Given the description of an element on the screen output the (x, y) to click on. 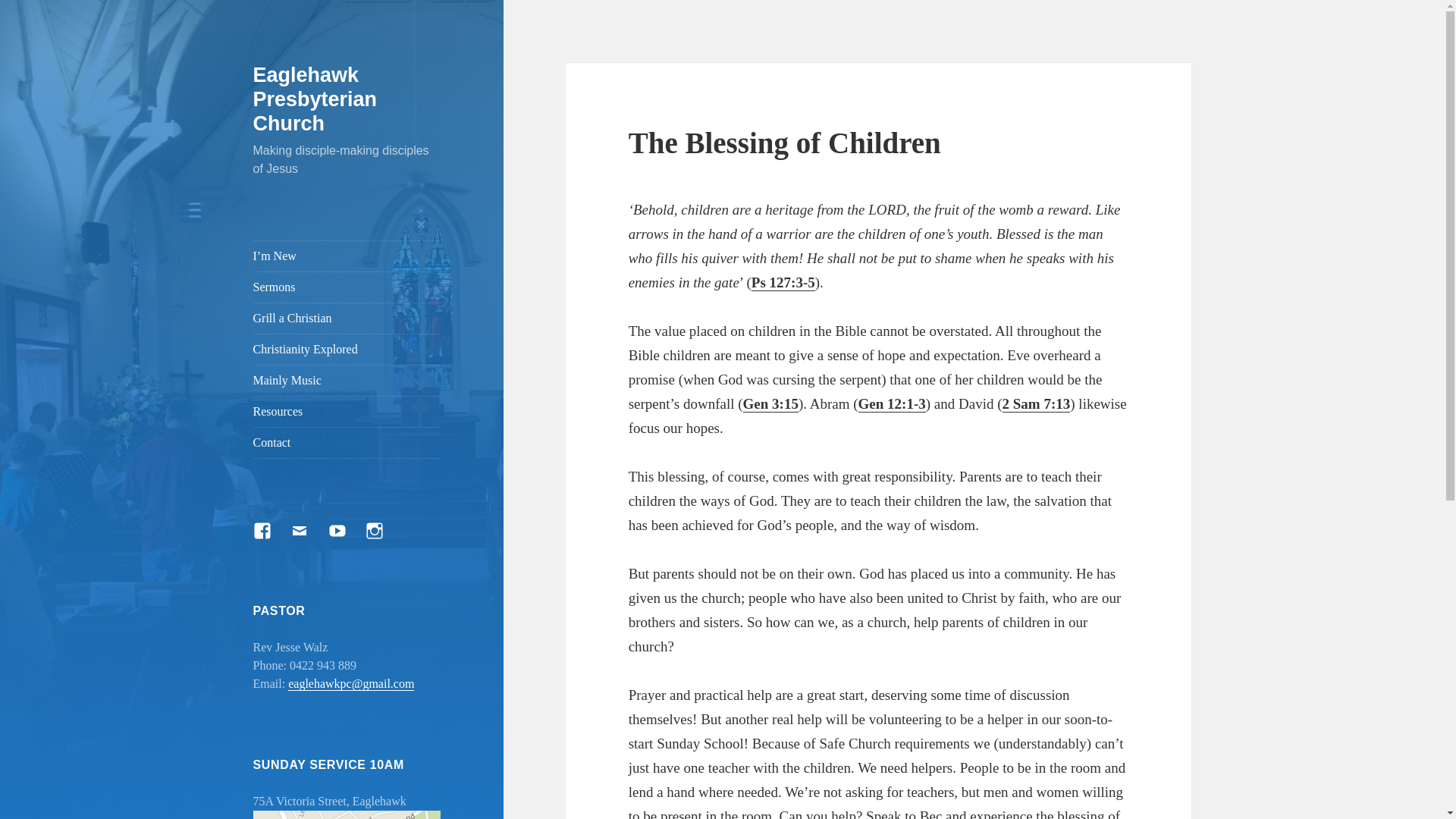
Resources Element type: text (347, 411)
2 Sam 7:13 Element type: text (1036, 403)
Christianity Explored Element type: text (347, 349)
Ps 127:3-5 Element type: text (783, 282)
Gen 12:1-3 Element type: text (891, 403)
Sermons Element type: text (347, 287)
Eaglehawk Presbyterian Church Element type: text (315, 98)
YouTube Element type: text (346, 539)
Mainly Music Element type: text (347, 380)
Gen 3:15 Element type: text (770, 403)
Facebook Element type: text (271, 539)
eaglehawkpc@gmail.com Element type: text (351, 683)
Instagram Element type: text (383, 539)
Contact Element type: text (347, 442)
Email Element type: text (308, 539)
Grill a Christian Element type: text (347, 318)
